Given the description of an element on the screen output the (x, y) to click on. 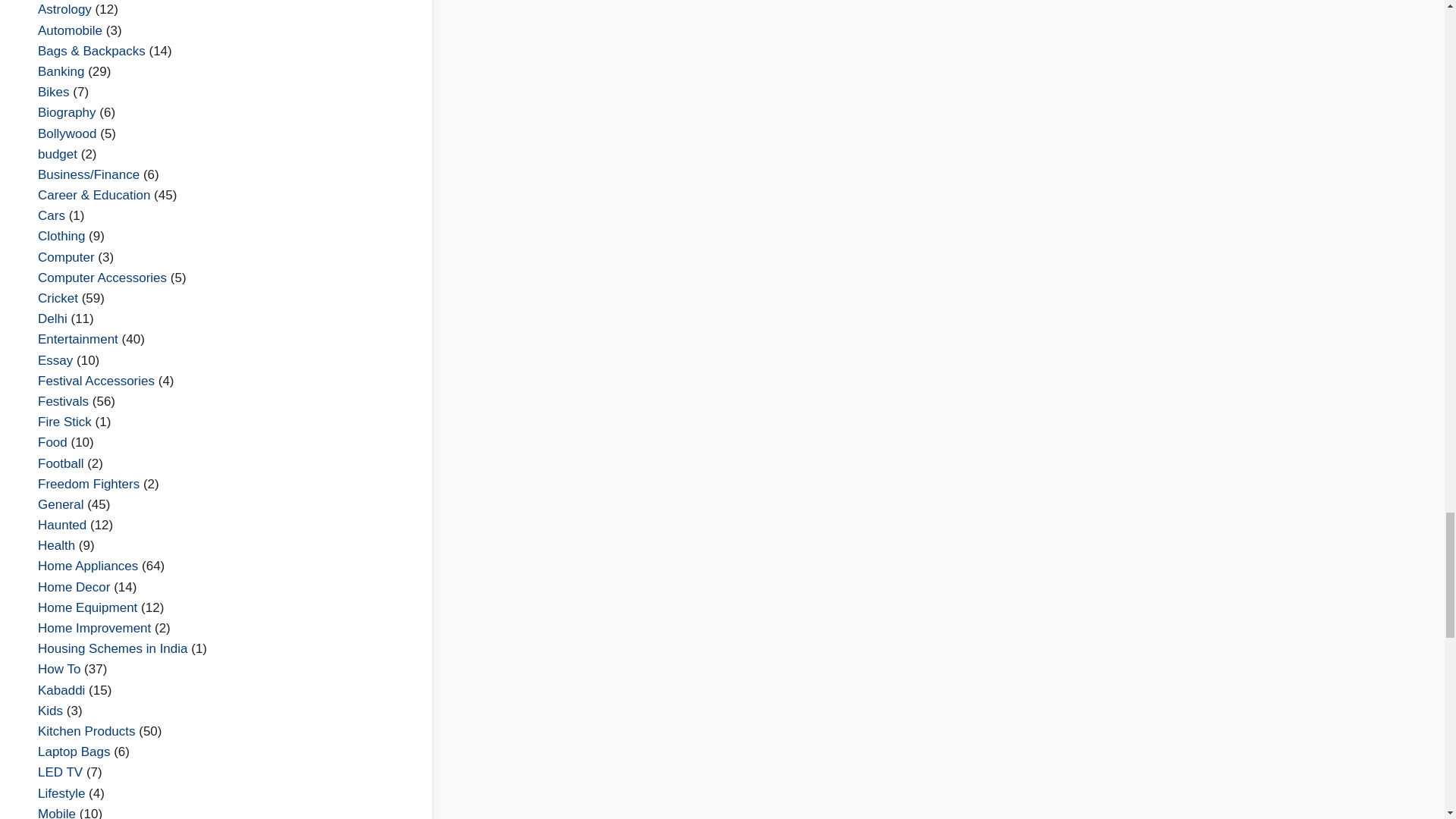
Astrology (64, 9)
